Given the description of an element on the screen output the (x, y) to click on. 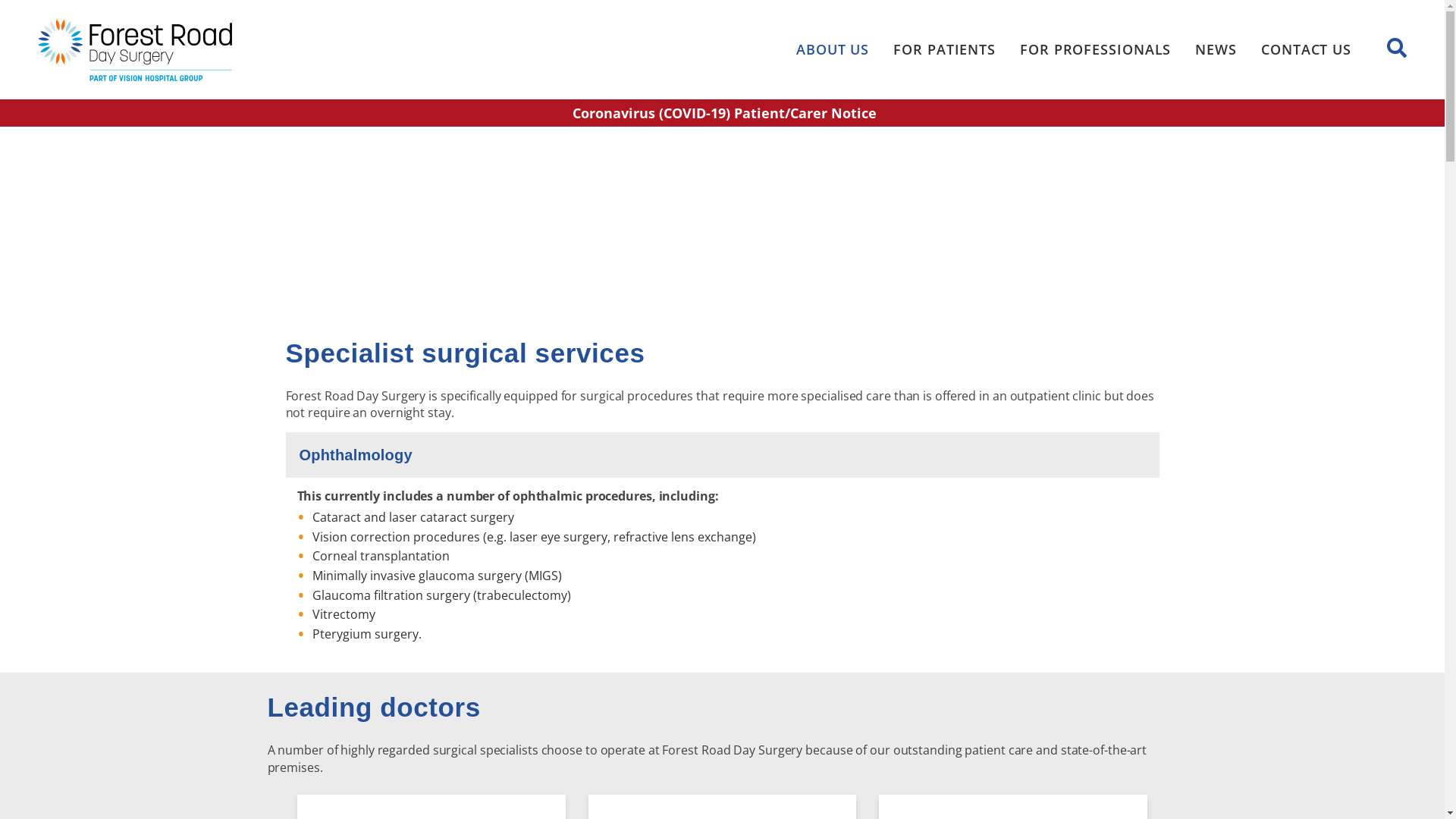
FOR PROFESSIONALS Element type: text (1094, 49)
CONTACT US Element type: text (1306, 49)
FOR PATIENTS Element type: text (944, 49)
ABOUT US Element type: text (832, 49)
Coronavirus (COVID-19) Patient/Carer Notice Element type: text (722, 112)
NEWS Element type: text (1215, 49)
Go Element type: text (969, 126)
Forest Road Day Surgery logo (part of Vision Hospital Group) Element type: hover (188, 49)
